Given the description of an element on the screen output the (x, y) to click on. 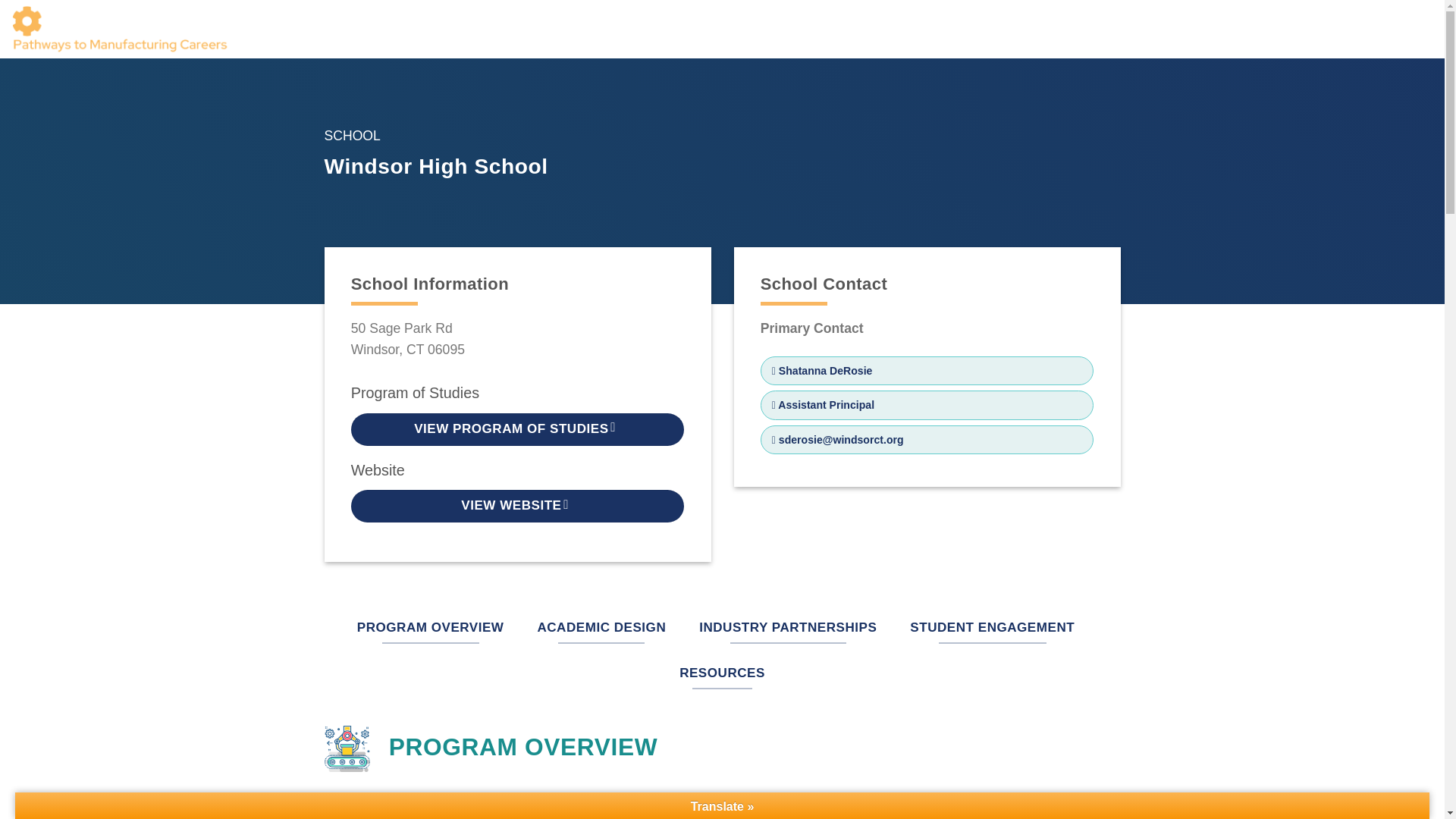
Students (1167, 29)
STUDENT ENGAGEMENT (992, 627)
INDUSTRY PARTNERSHIPS (787, 627)
ACADEMIC DESIGN (601, 627)
MFG in CT (1246, 29)
Pathways (1095, 29)
Companies (1015, 29)
VIEW PROGRAM OF STUDIES (517, 429)
Resources (1335, 29)
Contact (1409, 29)
Schools (794, 29)
VIEW WEBSITE (517, 505)
Workforce Resources (902, 29)
PROGRAM OVERVIEW (430, 627)
